Given the description of an element on the screen output the (x, y) to click on. 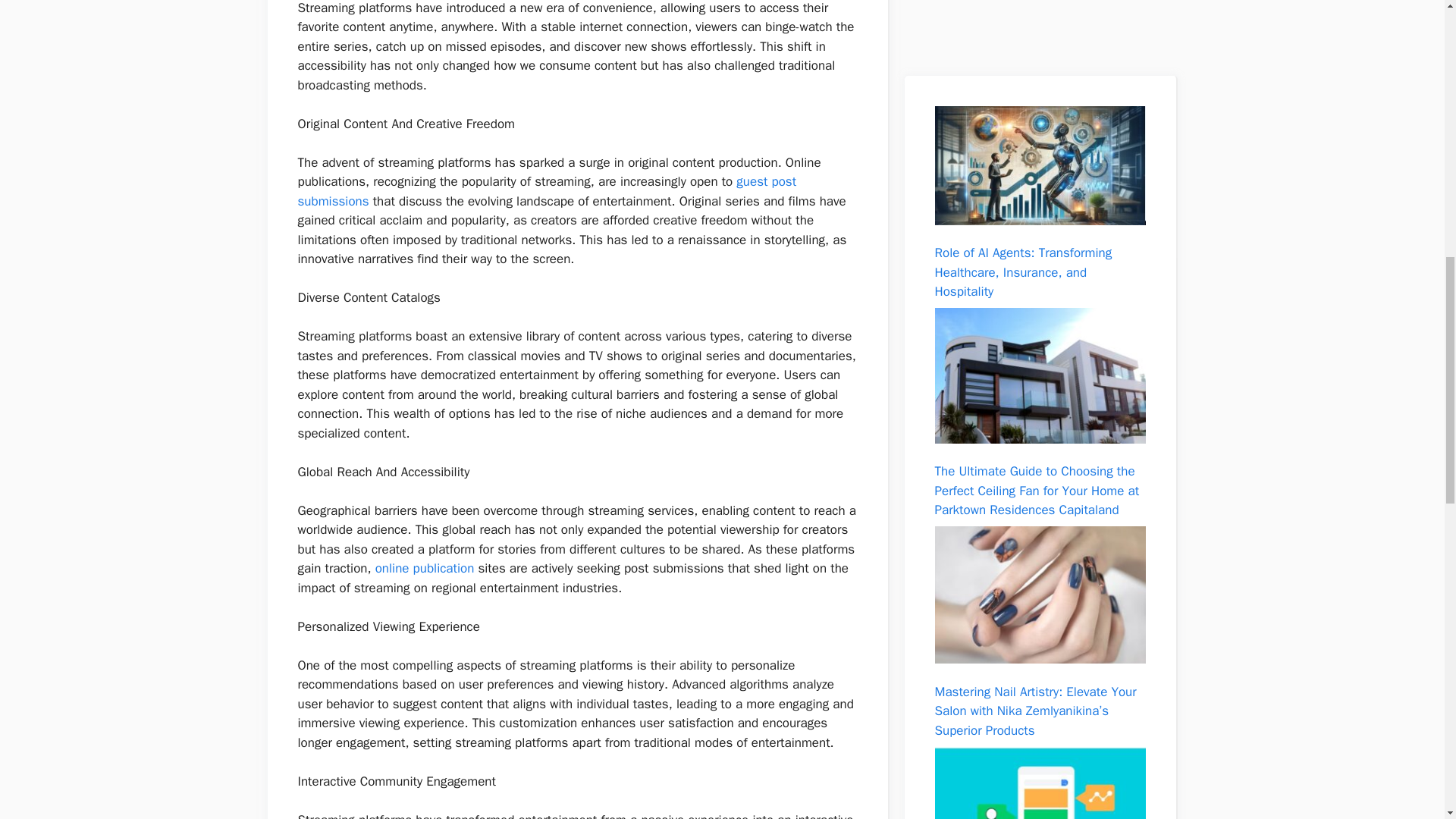
guest post submissions (546, 191)
online publication (424, 568)
